Given the description of an element on the screen output the (x, y) to click on. 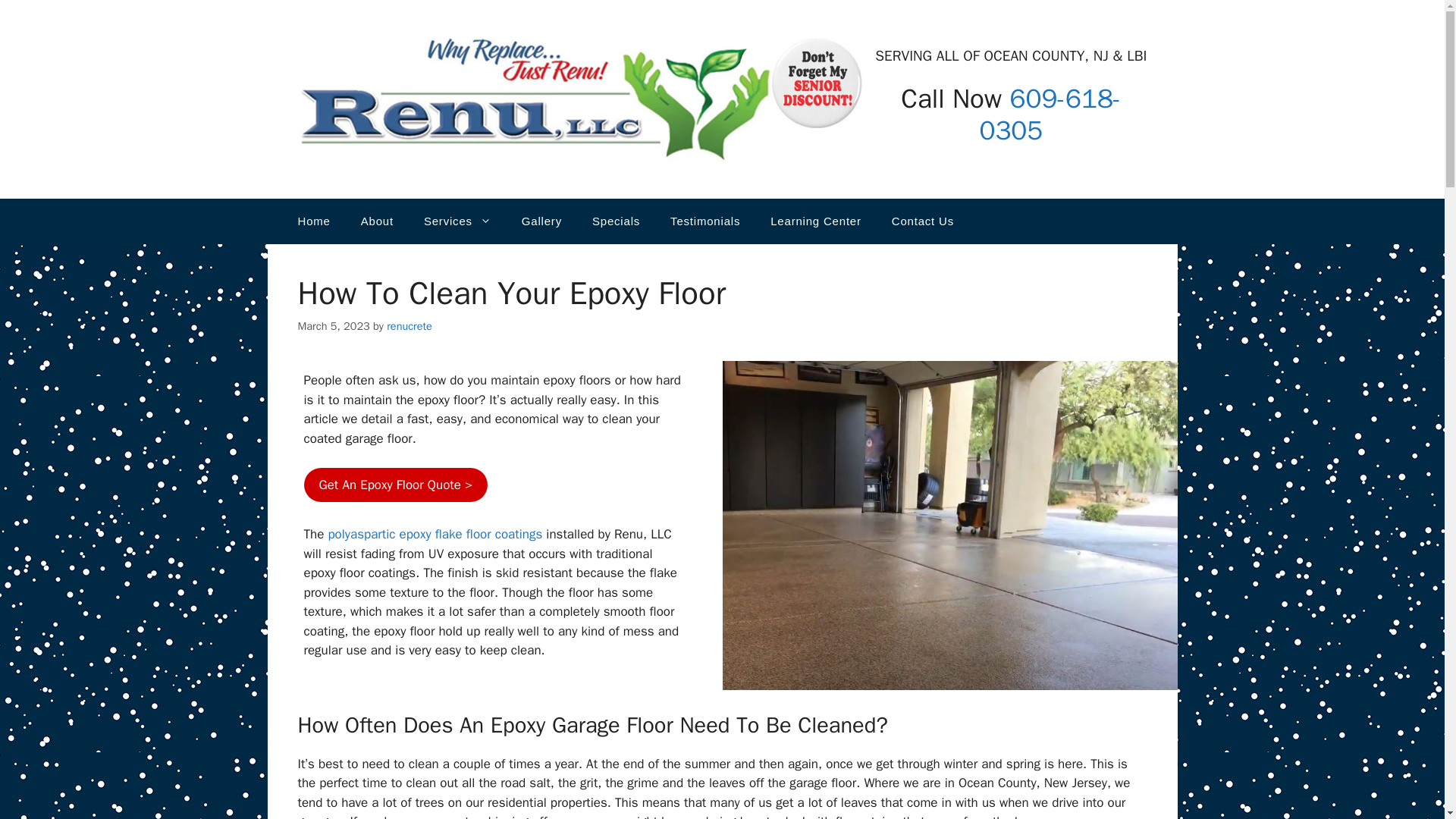
Learning Center (815, 221)
Testimonials (705, 221)
Gallery (541, 221)
Services (457, 221)
Home (313, 221)
609-618-0305 (1049, 114)
View all posts by renucrete (409, 325)
Contact Us (922, 221)
About (377, 221)
Specials (615, 221)
